Given the description of an element on the screen output the (x, y) to click on. 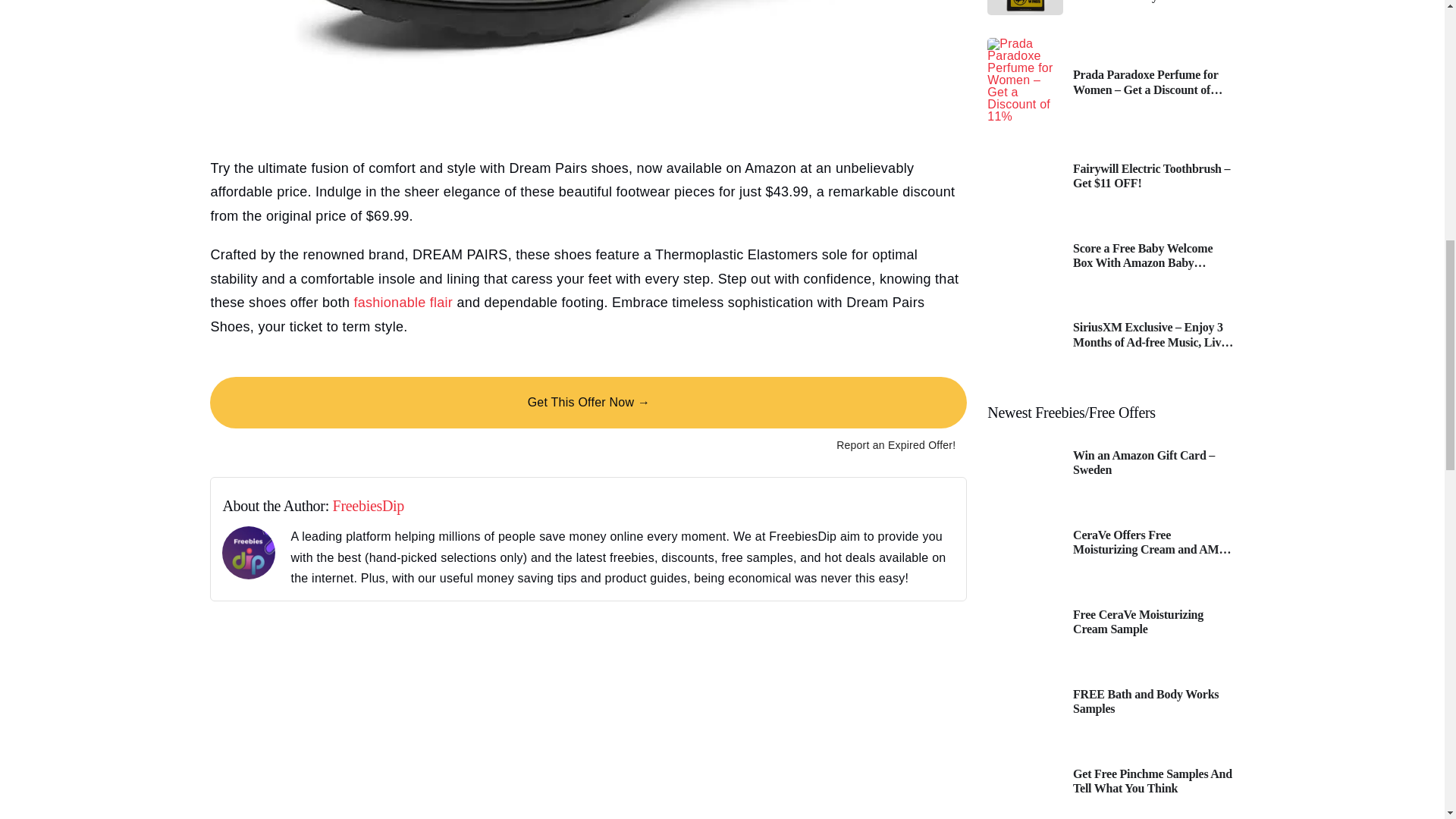
Dream Pairs Shoes (587, 66)
